Given the description of an element on the screen output the (x, y) to click on. 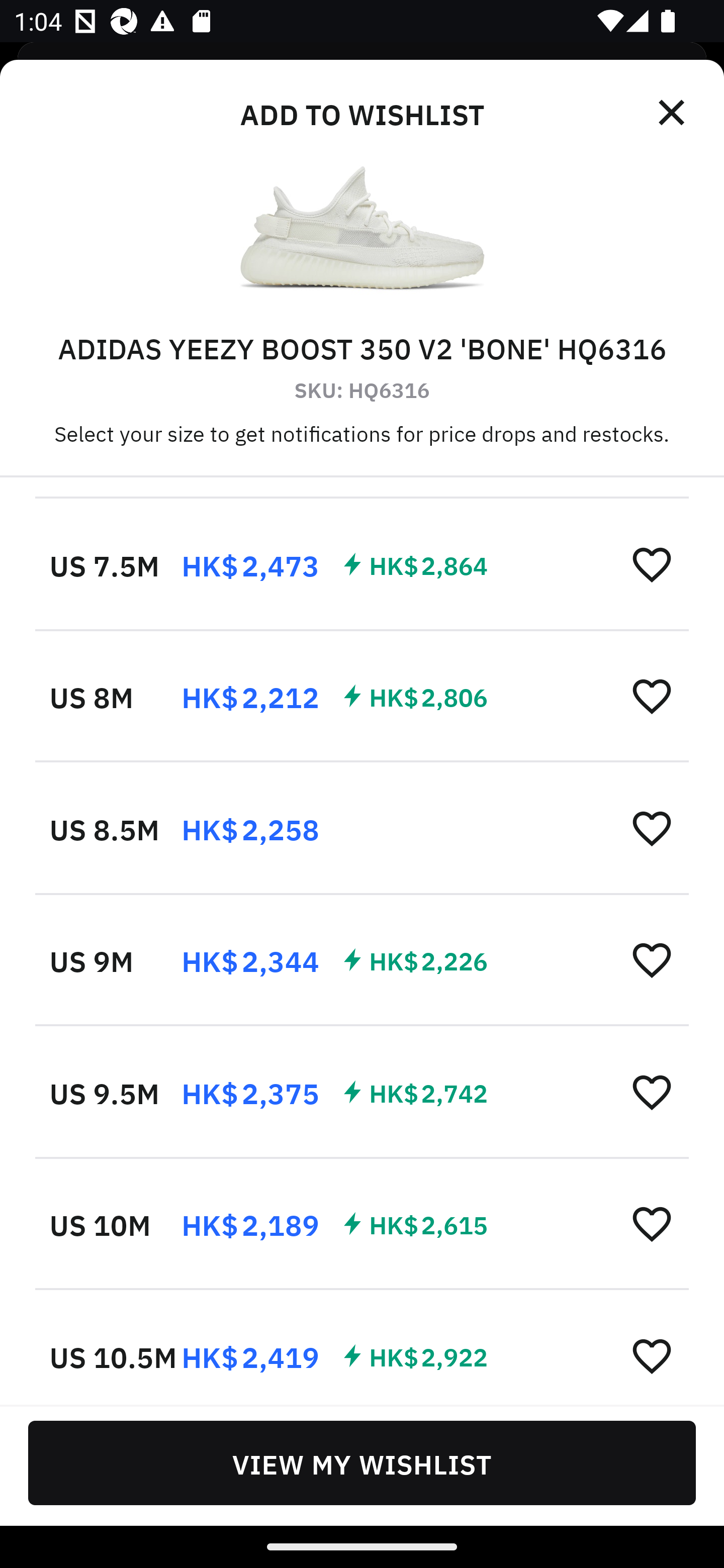
 (672, 112)
󰋕 (651, 563)
󰋕 (651, 695)
󰋕 (651, 827)
󰋕 (651, 959)
󰋕 (651, 1091)
󰋕 (651, 1223)
󰋕 (651, 1355)
VIEW MY WISHLIST (361, 1462)
